Given the description of an element on the screen output the (x, y) to click on. 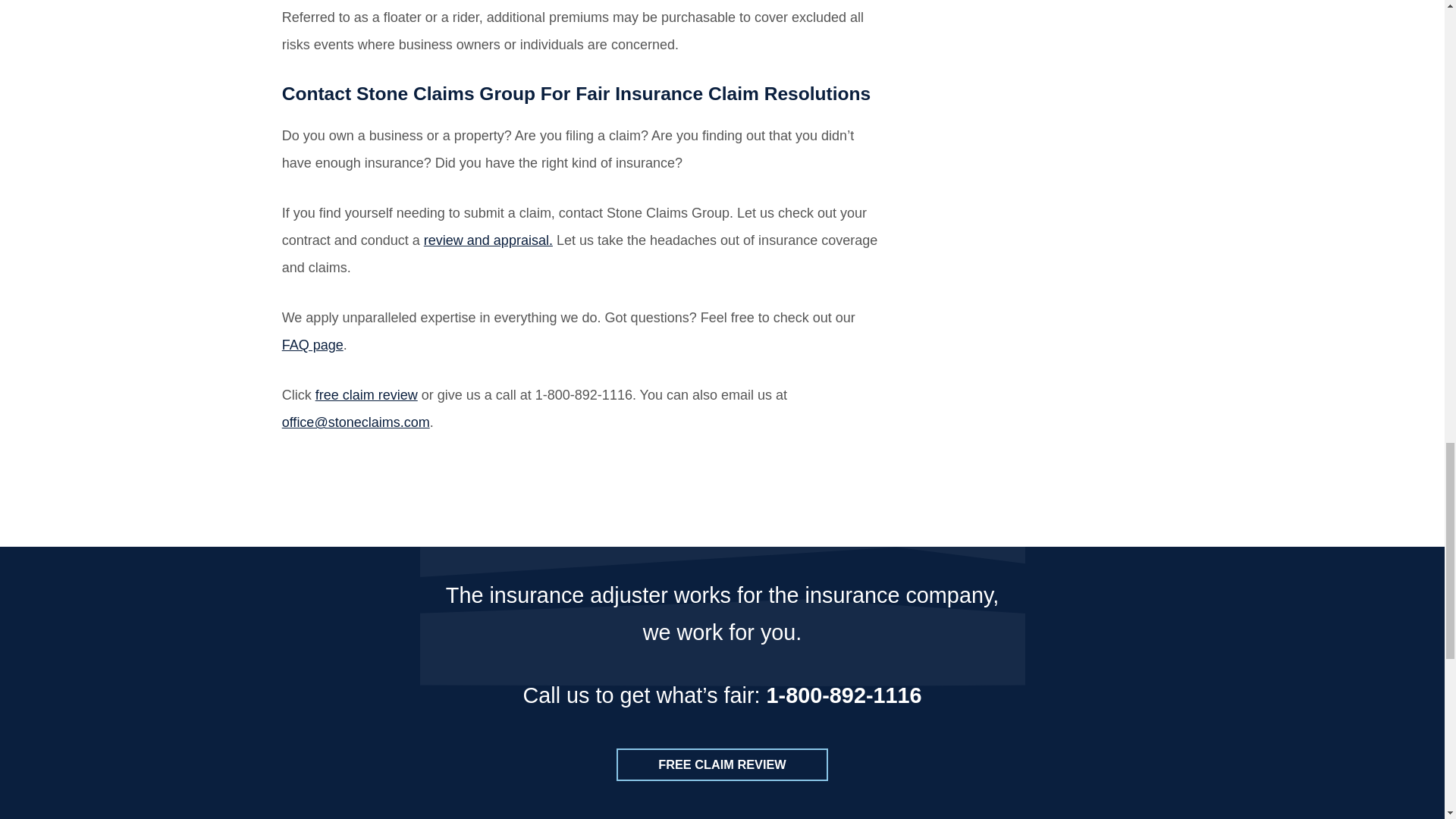
free claim review (366, 394)
FAQ page (312, 344)
review and appraisal. (488, 240)
